Given the description of an element on the screen output the (x, y) to click on. 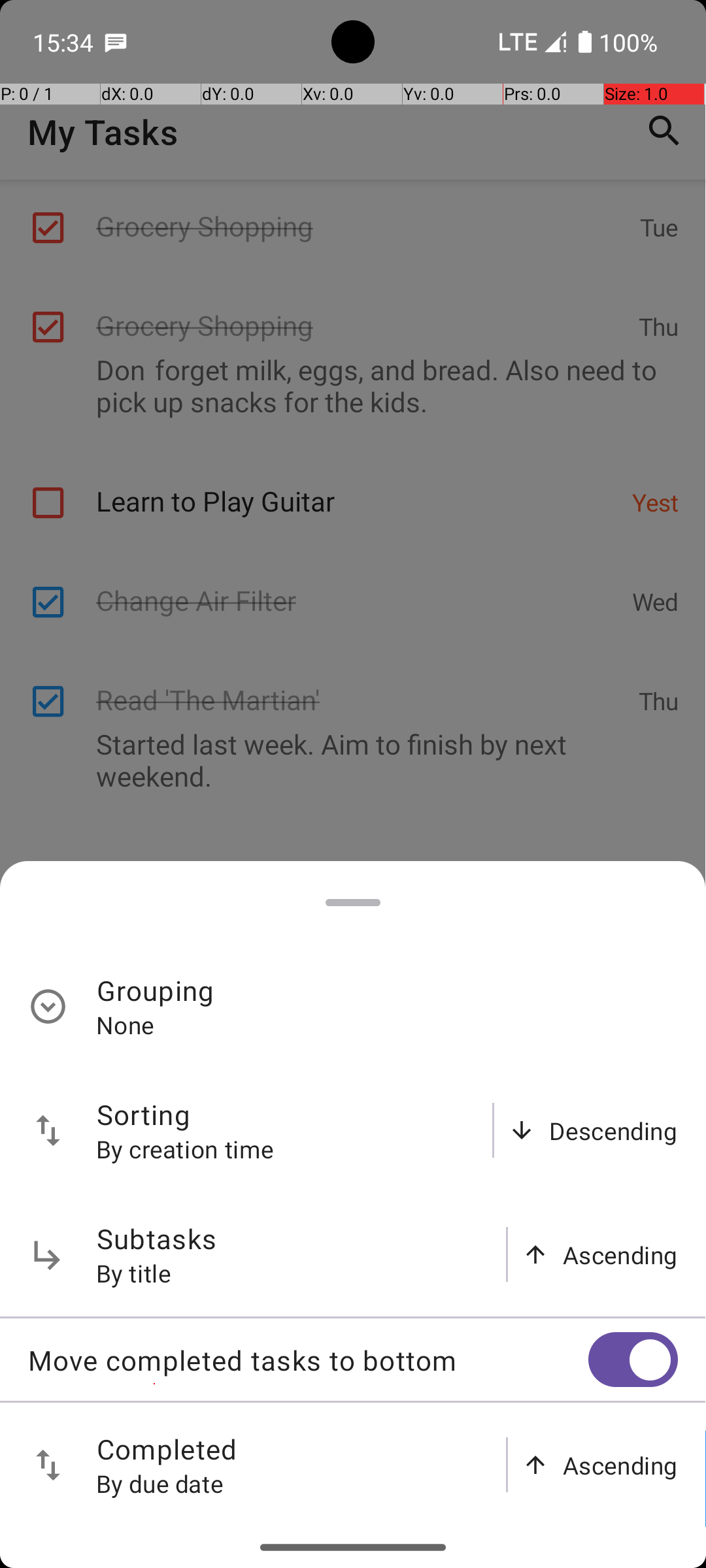
Drag handle Element type: android.view.View (352, 902)
Grouping Element type: android.widget.TextView (155, 989)
Sorting Element type: android.widget.TextView (143, 1113)
By creation time Element type: android.widget.TextView (184, 1148)
Subtasks Element type: android.widget.TextView (156, 1238)
By title Element type: android.widget.TextView (133, 1273)
Move completed tasks to bottom Element type: android.widget.TextView (307, 1359)
Completed Element type: android.widget.TextView (166, 1448)
By due date Element type: android.widget.TextView (160, 1483)
Descending Element type: android.widget.TextView (613, 1130)
Ascending Element type: android.widget.TextView (619, 1254)
